Given the description of an element on the screen output the (x, y) to click on. 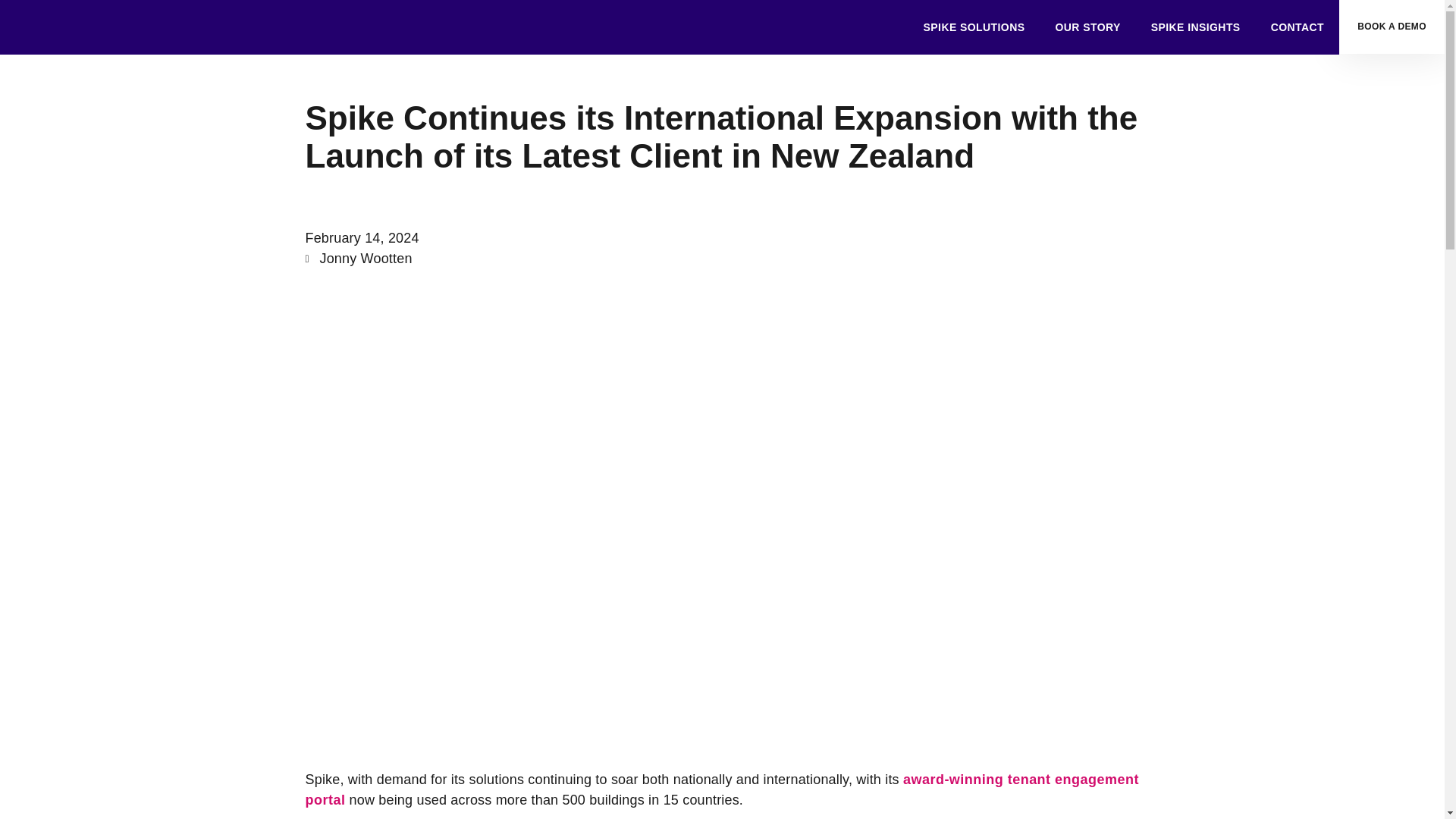
award-winning tenant engagement portal (721, 789)
SPIKE INSIGHTS (1195, 27)
CONTACT (1297, 27)
SPIKE SOLUTIONS (974, 27)
OUR STORY (1087, 27)
